Given the description of an element on the screen output the (x, y) to click on. 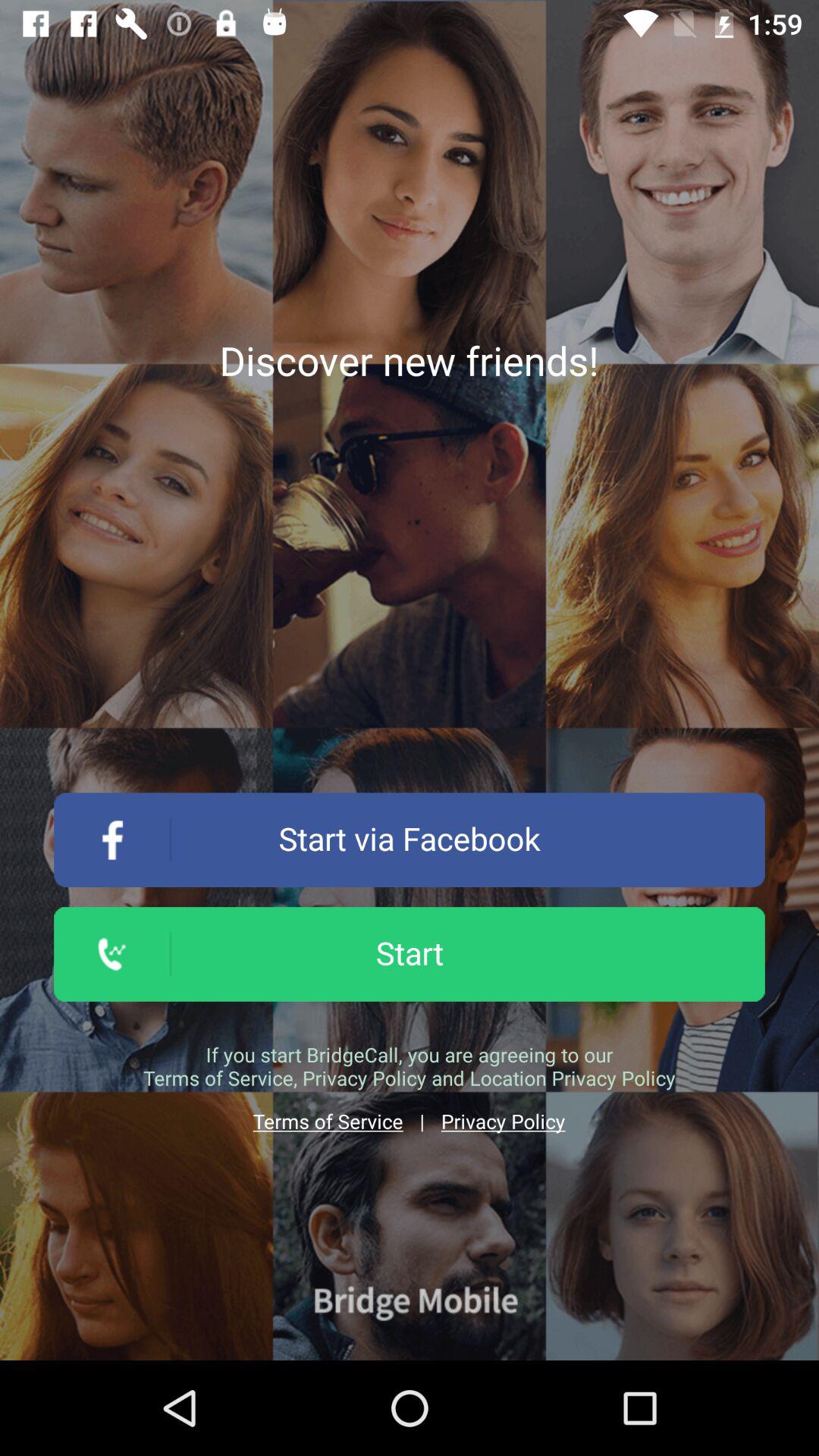
press the discover new friends! item (408, 359)
